Given the description of an element on the screen output the (x, y) to click on. 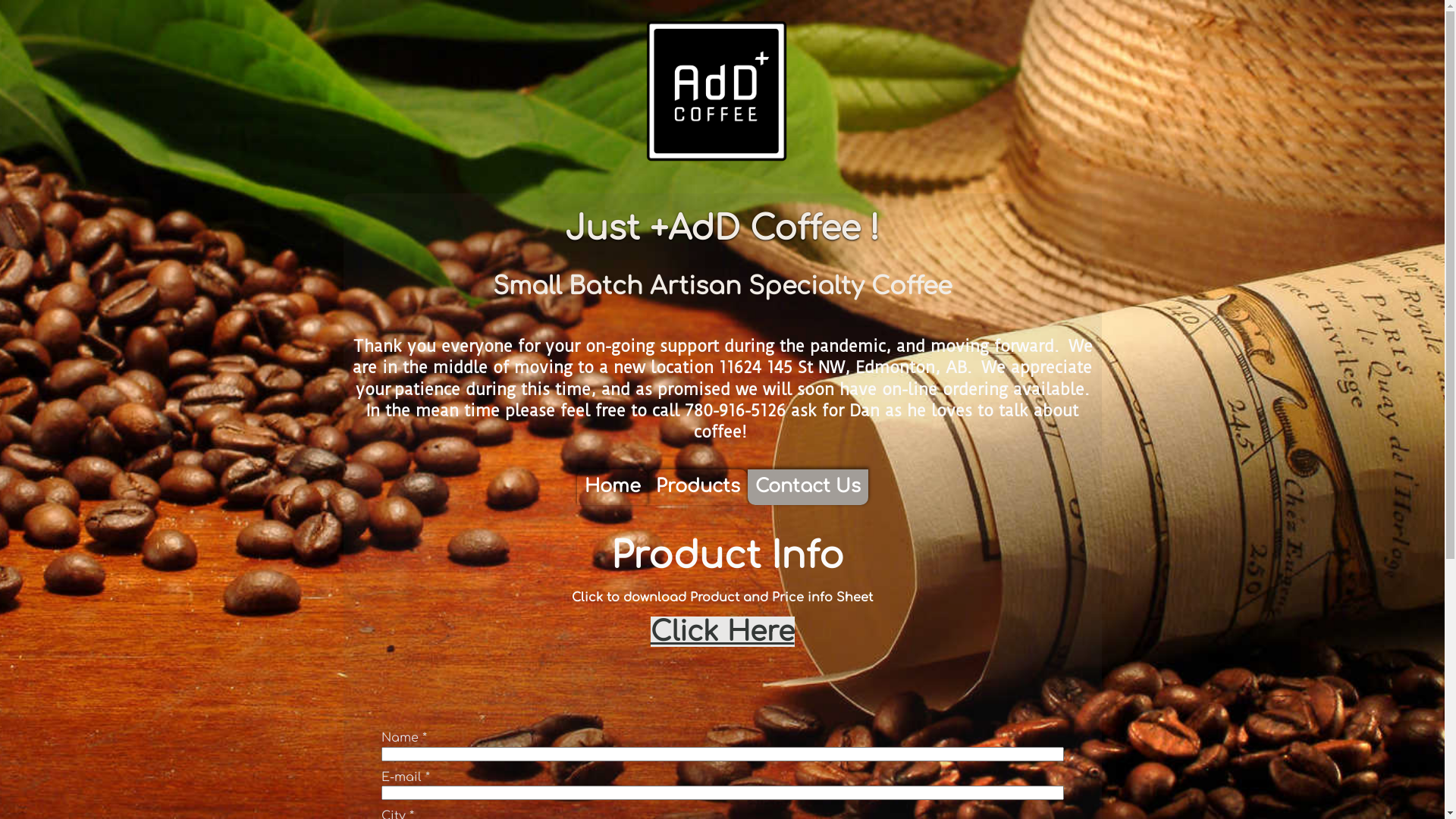
Click Here Element type: text (722, 631)
Home Element type: text (611, 487)
Products Element type: text (696, 487)
Contact Us Element type: text (807, 487)
